Given the description of an element on the screen output the (x, y) to click on. 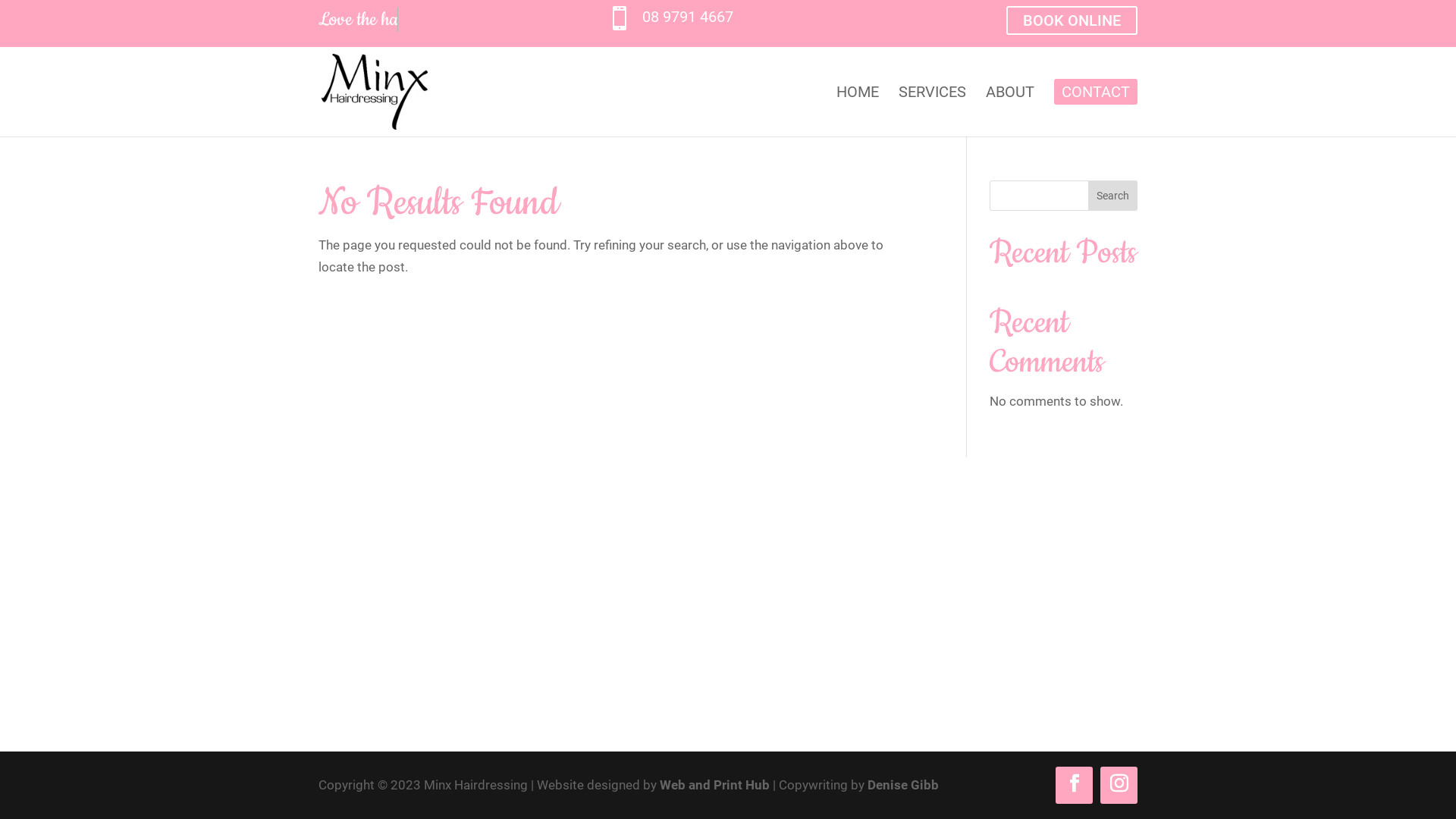
08 9791 4667 Element type: text (687, 16)
CONTACT Element type: text (1095, 107)
Denise Gibb Element type: text (902, 784)
ABOUT Element type: text (1009, 110)
HOME Element type: text (857, 110)
BOOK ONLINE Element type: text (1071, 20)
SERVICES Element type: text (932, 110)
Web and Print Hub Element type: text (714, 784)
Search Element type: text (1112, 195)
